Given the description of an element on the screen output the (x, y) to click on. 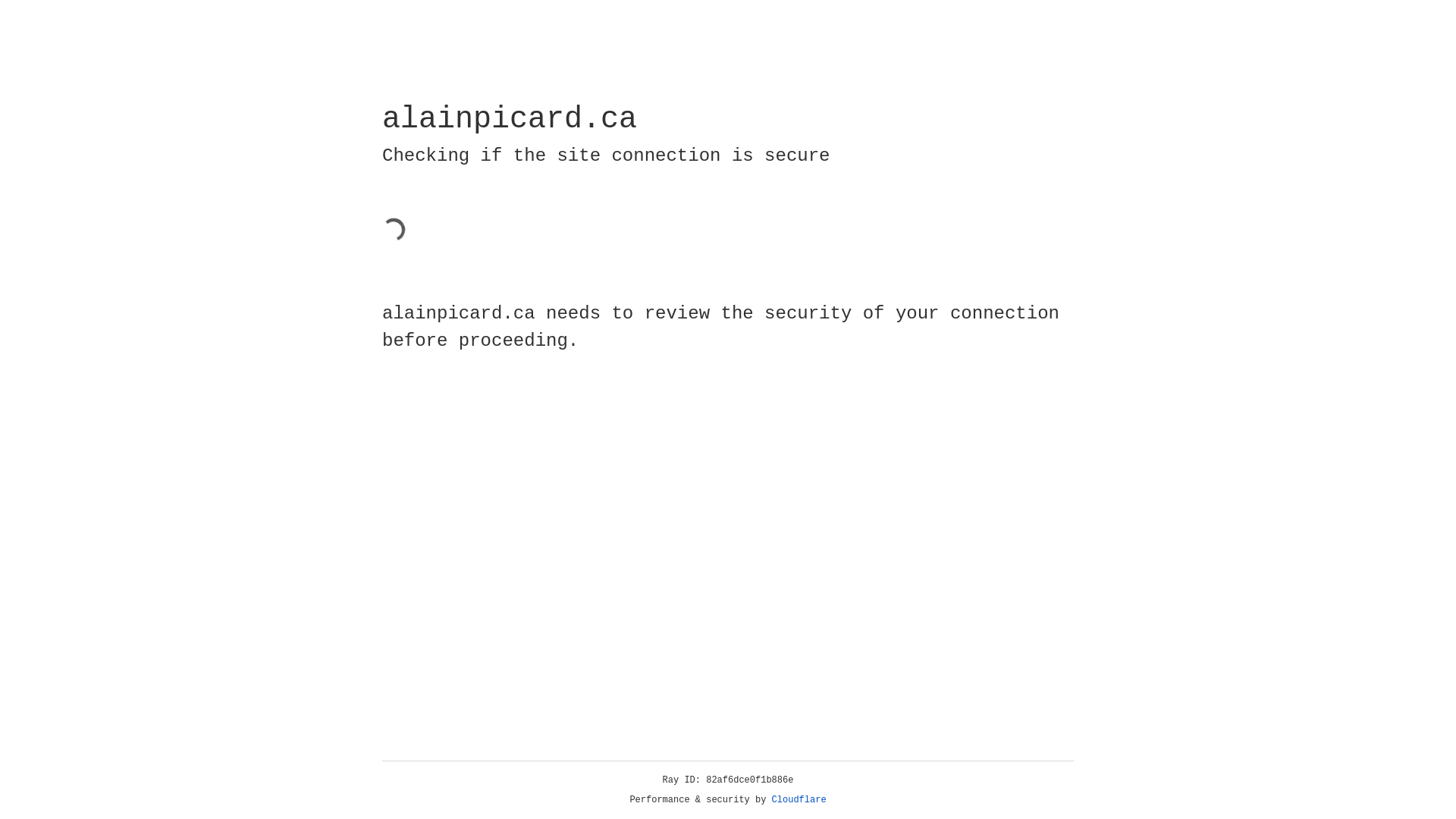
Cloudflare Element type: text (798, 799)
